Given the description of an element on the screen output the (x, y) to click on. 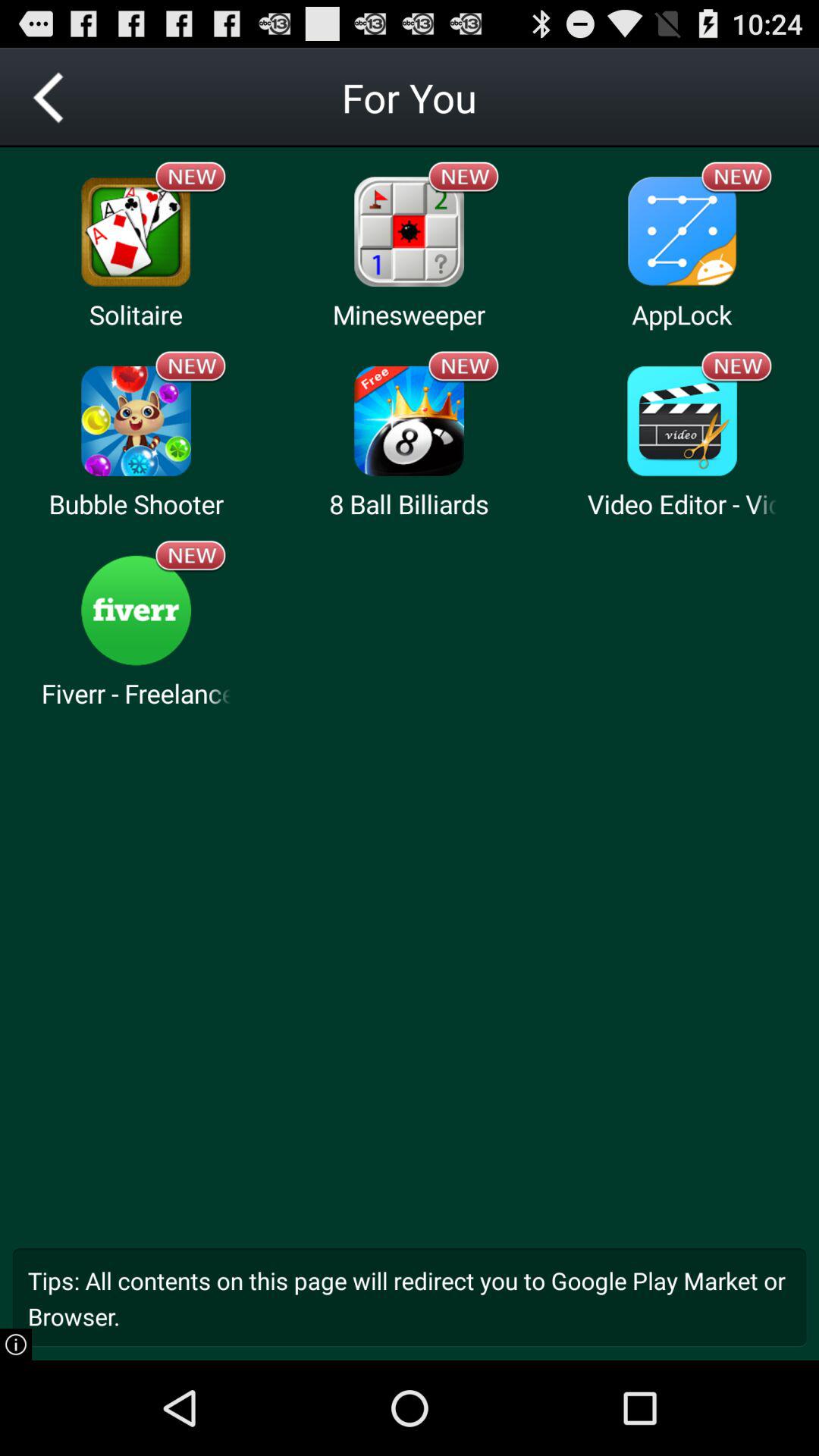
go back (49, 97)
